Given the description of an element on the screen output the (x, y) to click on. 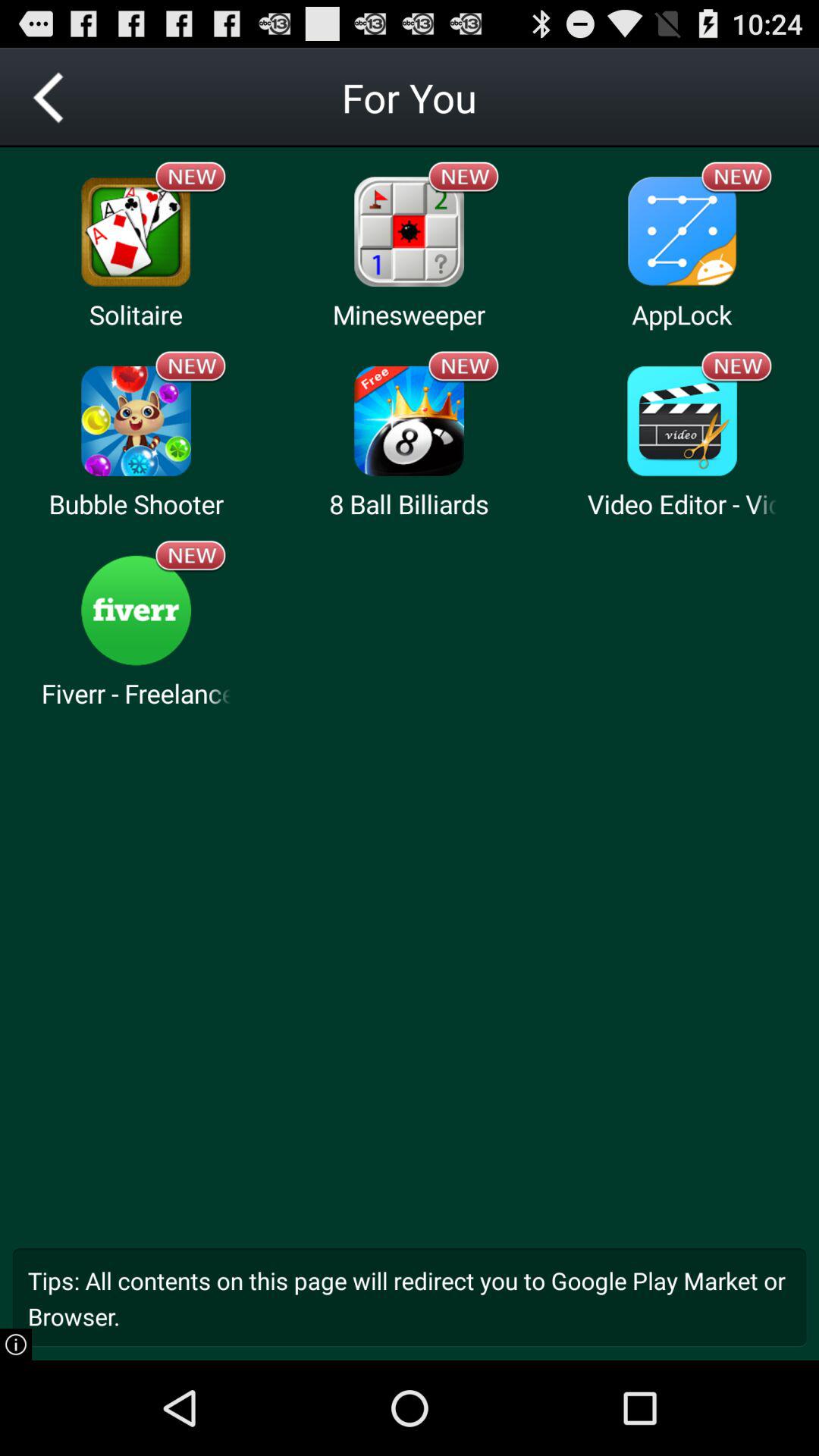
go back (49, 97)
